Given the description of an element on the screen output the (x, y) to click on. 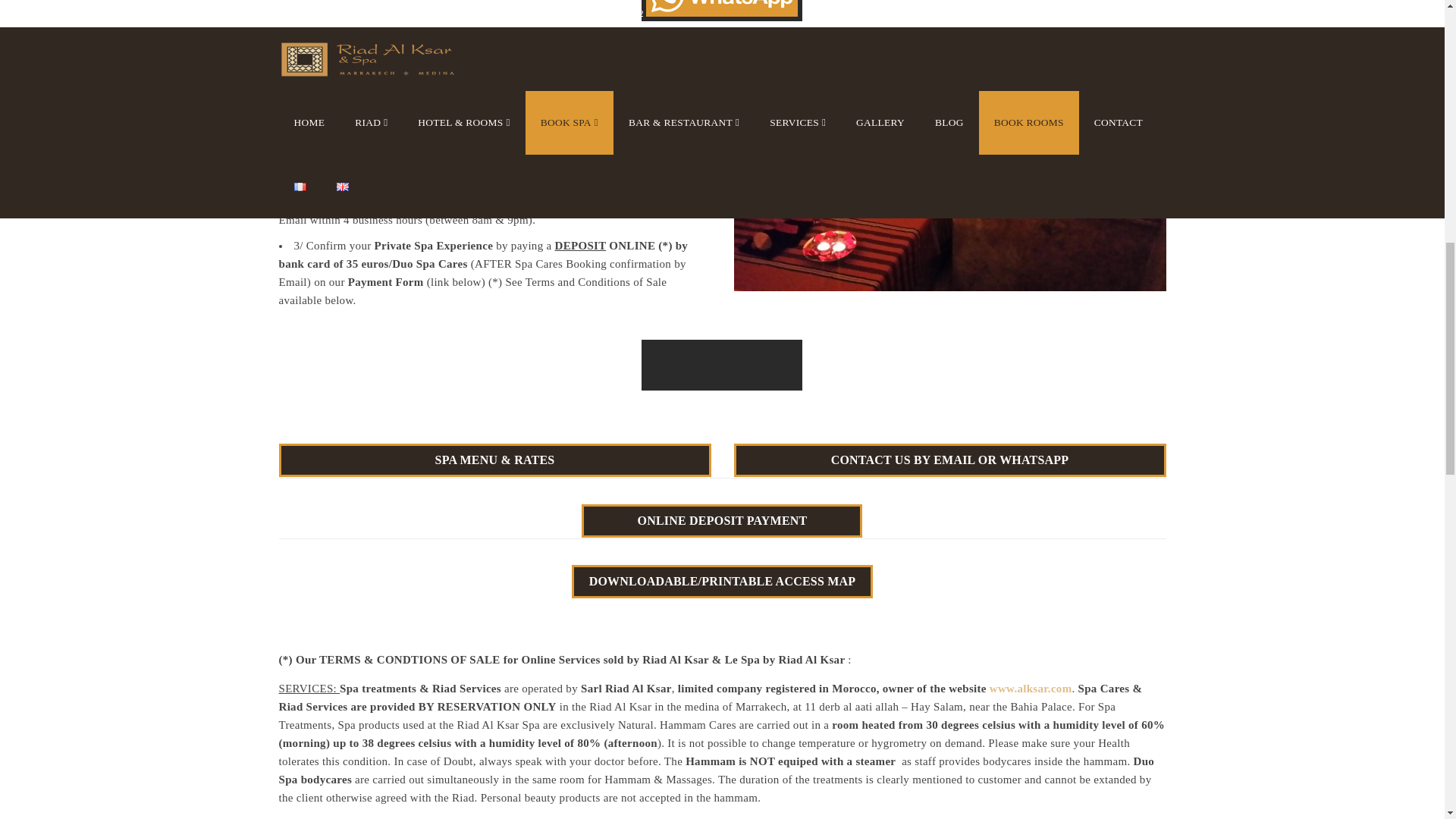
Secure payment (720, 520)
List of Spa Rates (495, 459)
Contact Us (949, 459)
